Given the description of an element on the screen output the (x, y) to click on. 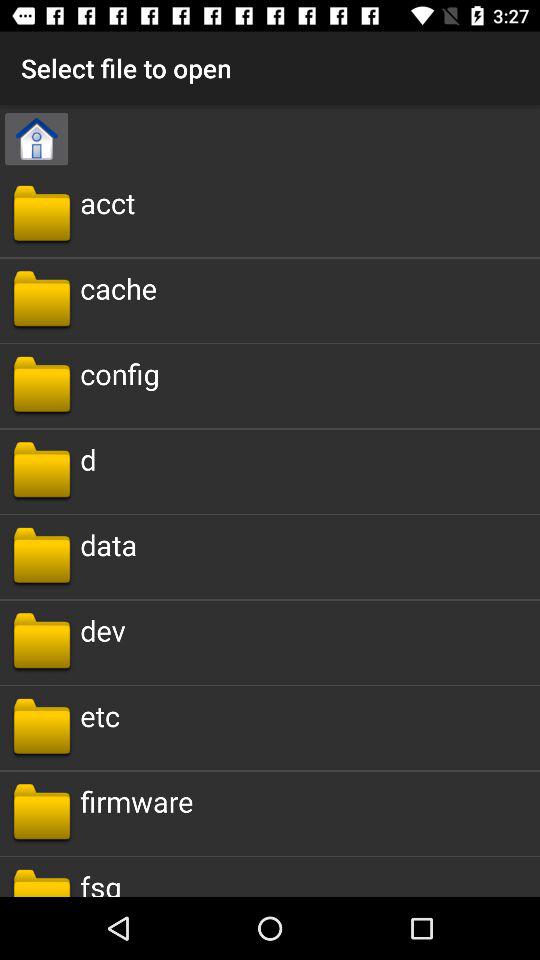
turn off item below select file to icon (107, 202)
